Given the description of an element on the screen output the (x, y) to click on. 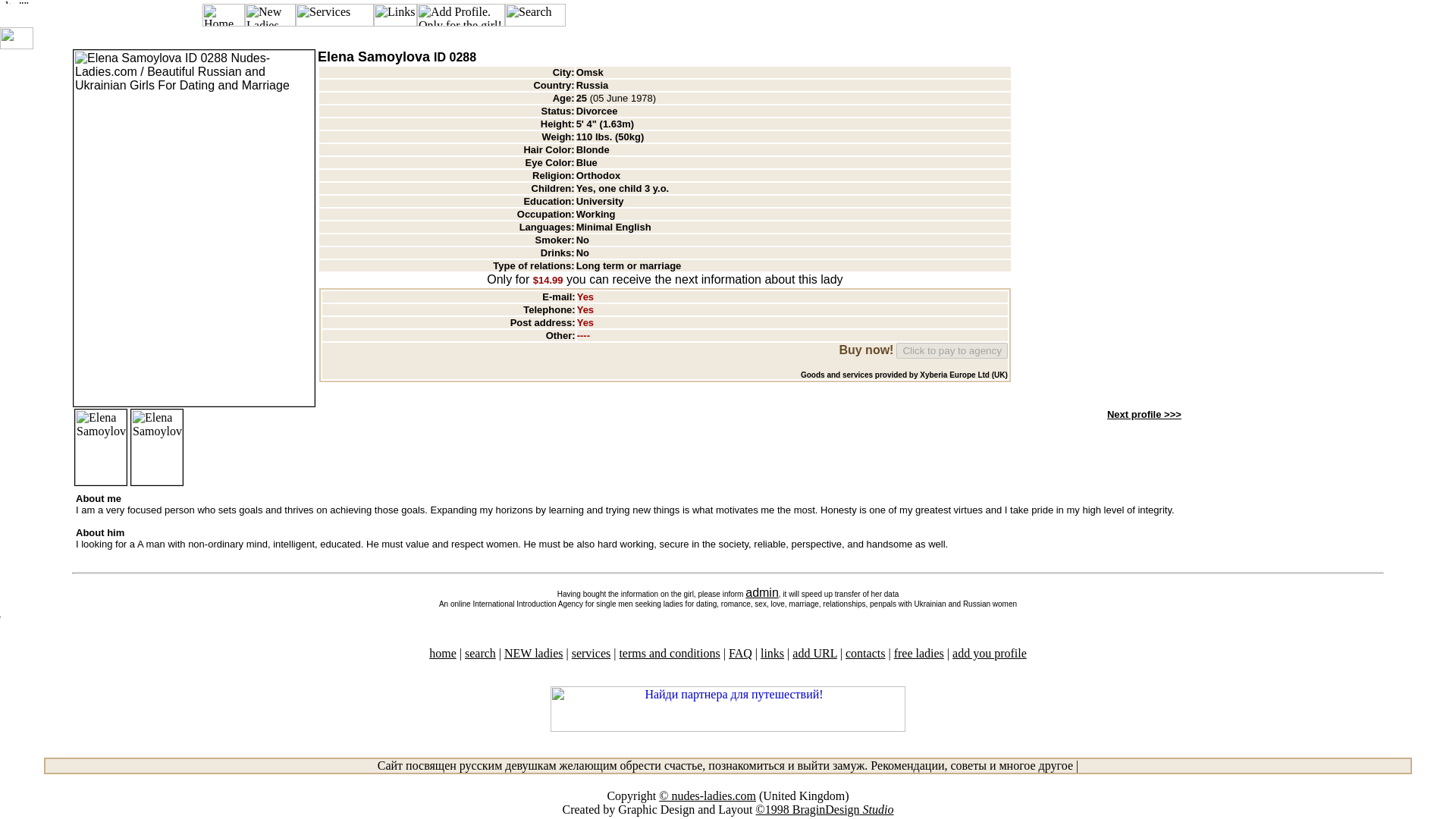
contacts (865, 653)
Home Bes-Ladies (443, 653)
Search of the most beautiful girl (480, 653)
services (591, 653)
terms and conditions (668, 653)
search (480, 653)
FAQ (740, 653)
The profiles with FREE e-mail of the women (918, 653)
Click to pay to agency (951, 350)
